Given the description of an element on the screen output the (x, y) to click on. 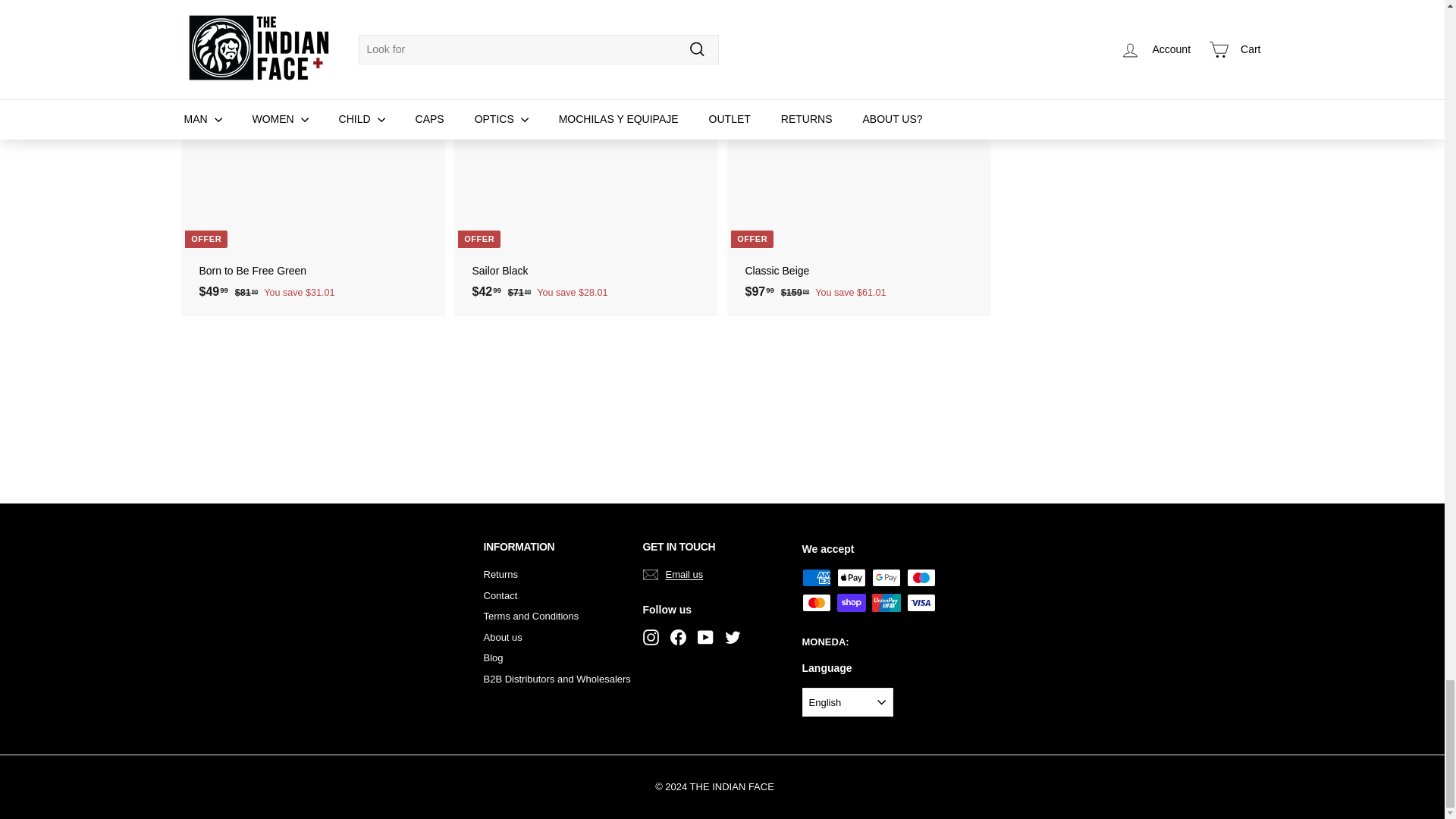
Mastercard (816, 602)
Google Pay (886, 577)
American Express (816, 577)
THE INDIAN FACE a Instagram (651, 636)
THE INDIAN FACE a YouTube (705, 636)
twitter (733, 637)
Shop Pay (851, 602)
THE INDIAN FACE a Facebook (677, 636)
instagram (651, 637)
Apple Pay (851, 577)
Maestro (921, 577)
THE INDIAN FACE a Twitter (733, 636)
Union Pay (886, 602)
